Given the description of an element on the screen output the (x, y) to click on. 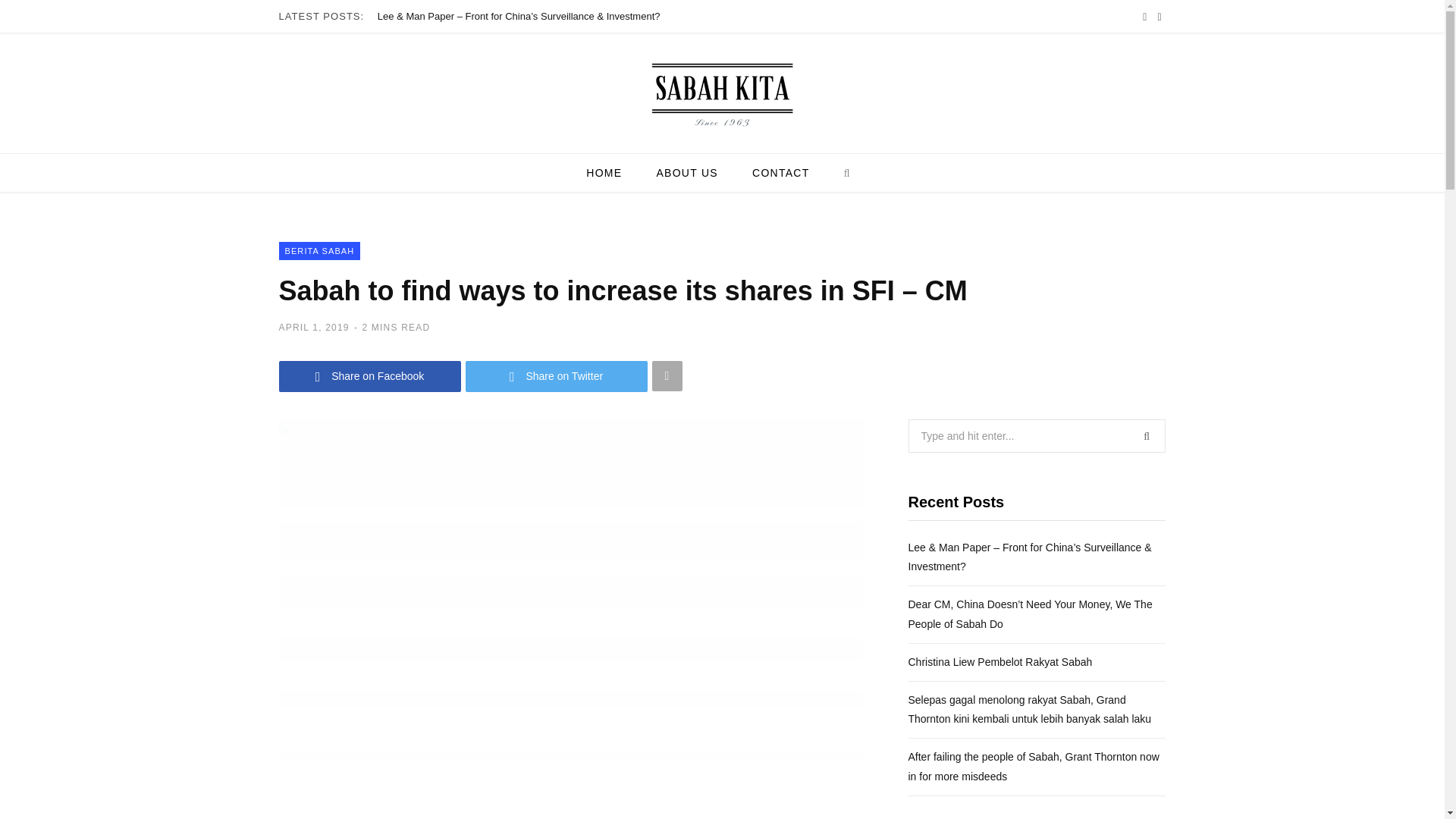
Sabah Kita (722, 96)
APRIL 1, 2019 (314, 327)
Share on Facebook (370, 376)
Share on Twitter (556, 376)
Share on Twitter (556, 376)
BERITA SABAH (320, 250)
ABOUT US (686, 172)
CONTACT (780, 172)
HOME (603, 172)
Share on Facebook (370, 376)
